Given the description of an element on the screen output the (x, y) to click on. 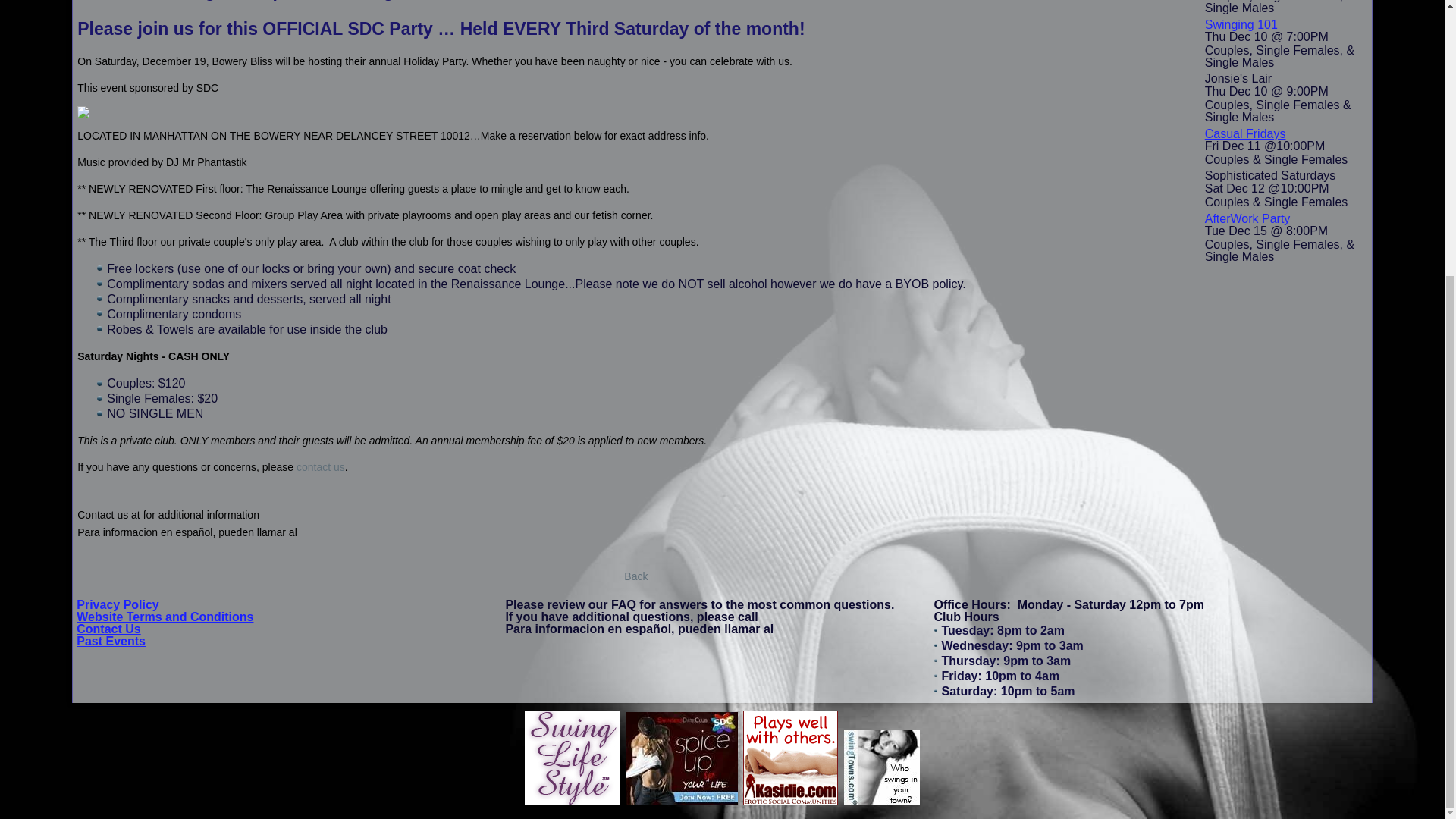
contact us (321, 467)
Back (635, 576)
Swinging 101 (1241, 24)
Back (635, 576)
Contact Us (108, 628)
Website Terms and Conditions (165, 616)
AfterWork Party (1247, 218)
Casual Fridays (1245, 133)
Privacy Policy (117, 604)
Past Events (111, 640)
